Given the description of an element on the screen output the (x, y) to click on. 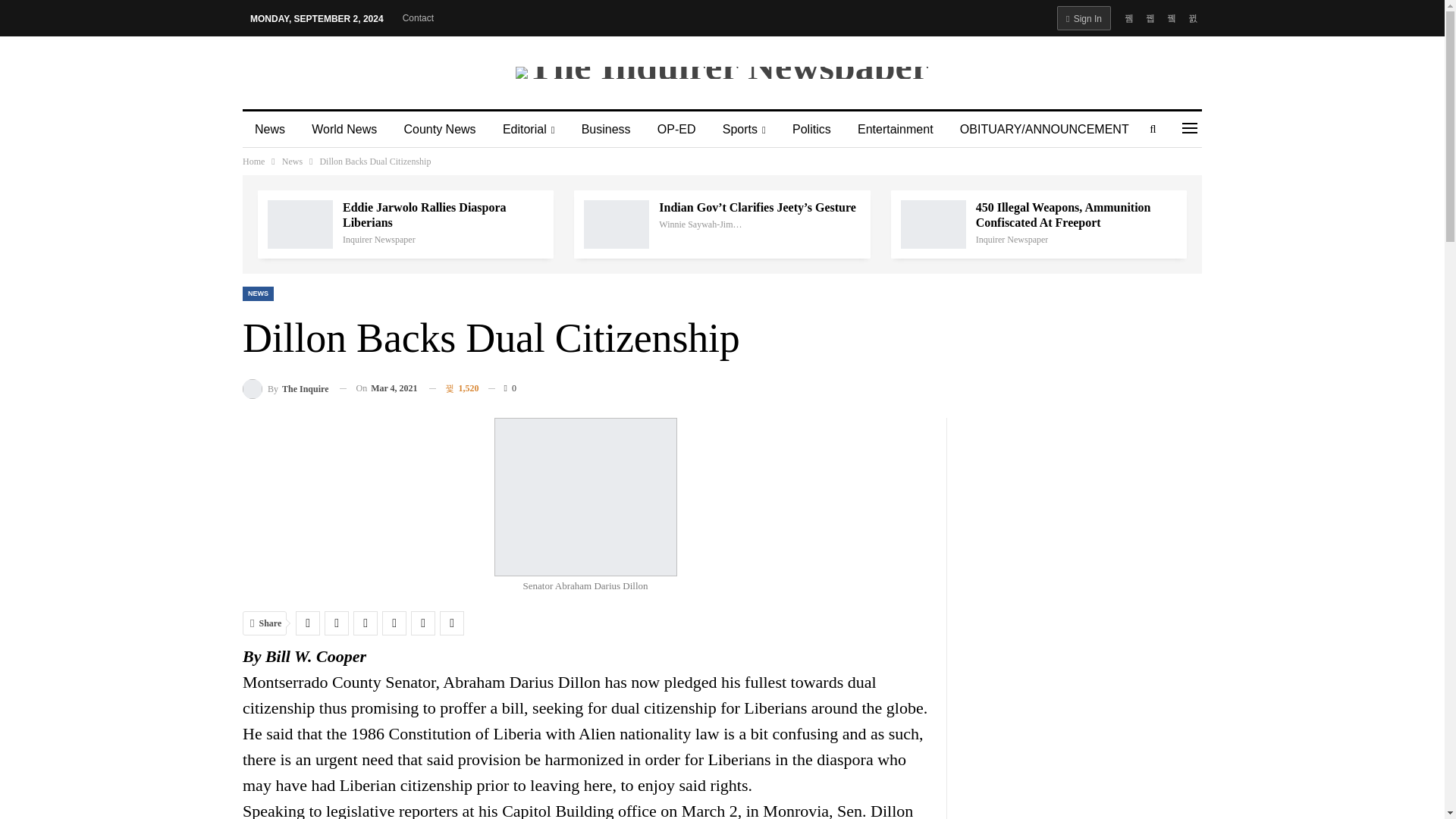
Browse Author Articles (378, 239)
Browse Author Articles (700, 224)
County News (439, 129)
Browse Author Articles (1011, 239)
Editorial (528, 129)
Eddie Jarwolo Rallies Diaspora Liberians (300, 223)
Sign In (1083, 17)
450 Illegal Weapons, Ammunition Confiscated At Freeport (933, 223)
Browse Author Articles (286, 388)
Contact (418, 18)
